Given the description of an element on the screen output the (x, y) to click on. 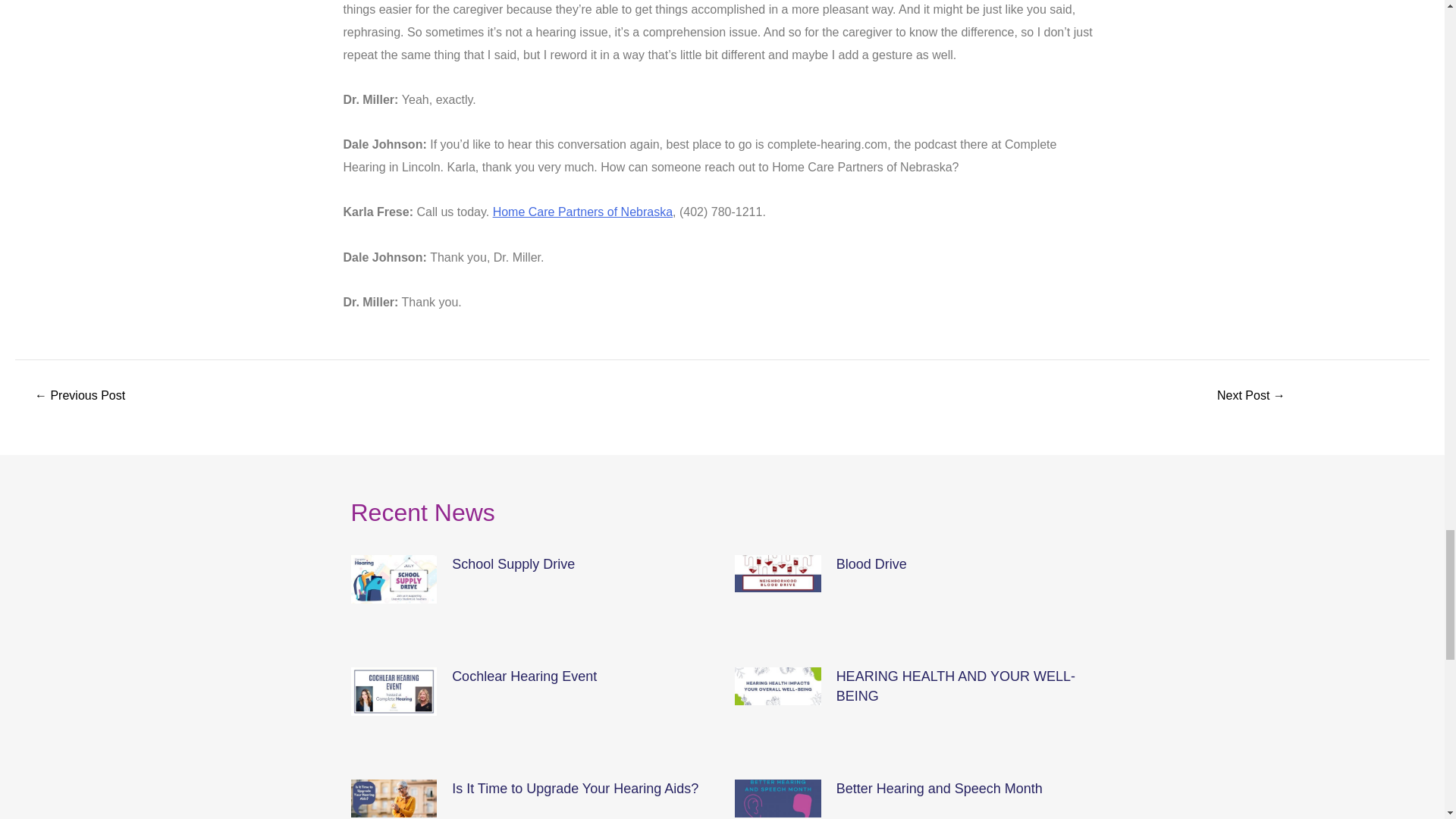
Myth vs Fact the Truth about Hearing Loss (79, 395)
Home Care Partners of Nebraska (582, 211)
